Given the description of an element on the screen output the (x, y) to click on. 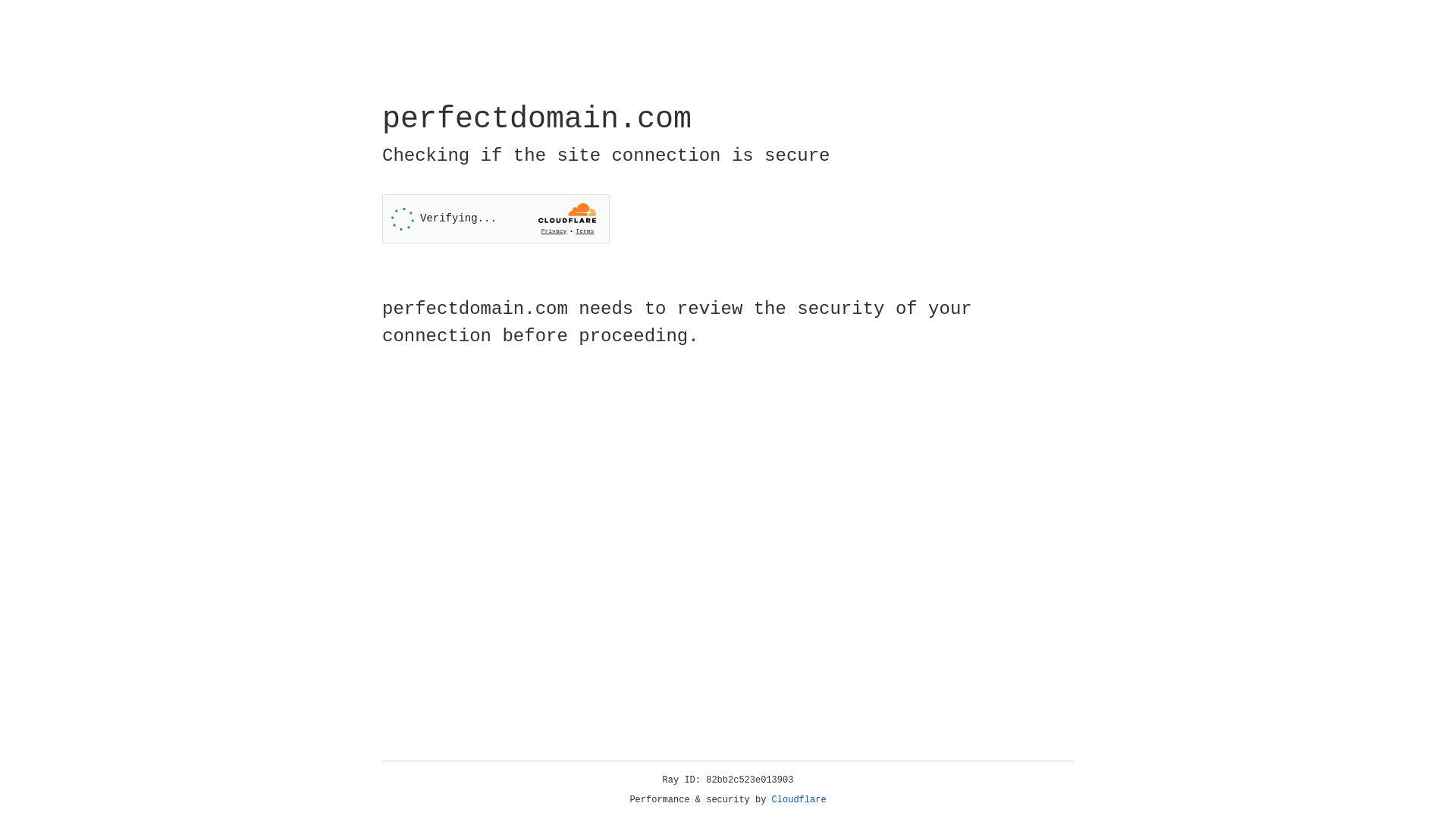
Cloudflare Element type: text (798, 799)
Widget containing a Cloudflare security challenge Element type: hover (495, 218)
